Given the description of an element on the screen output the (x, y) to click on. 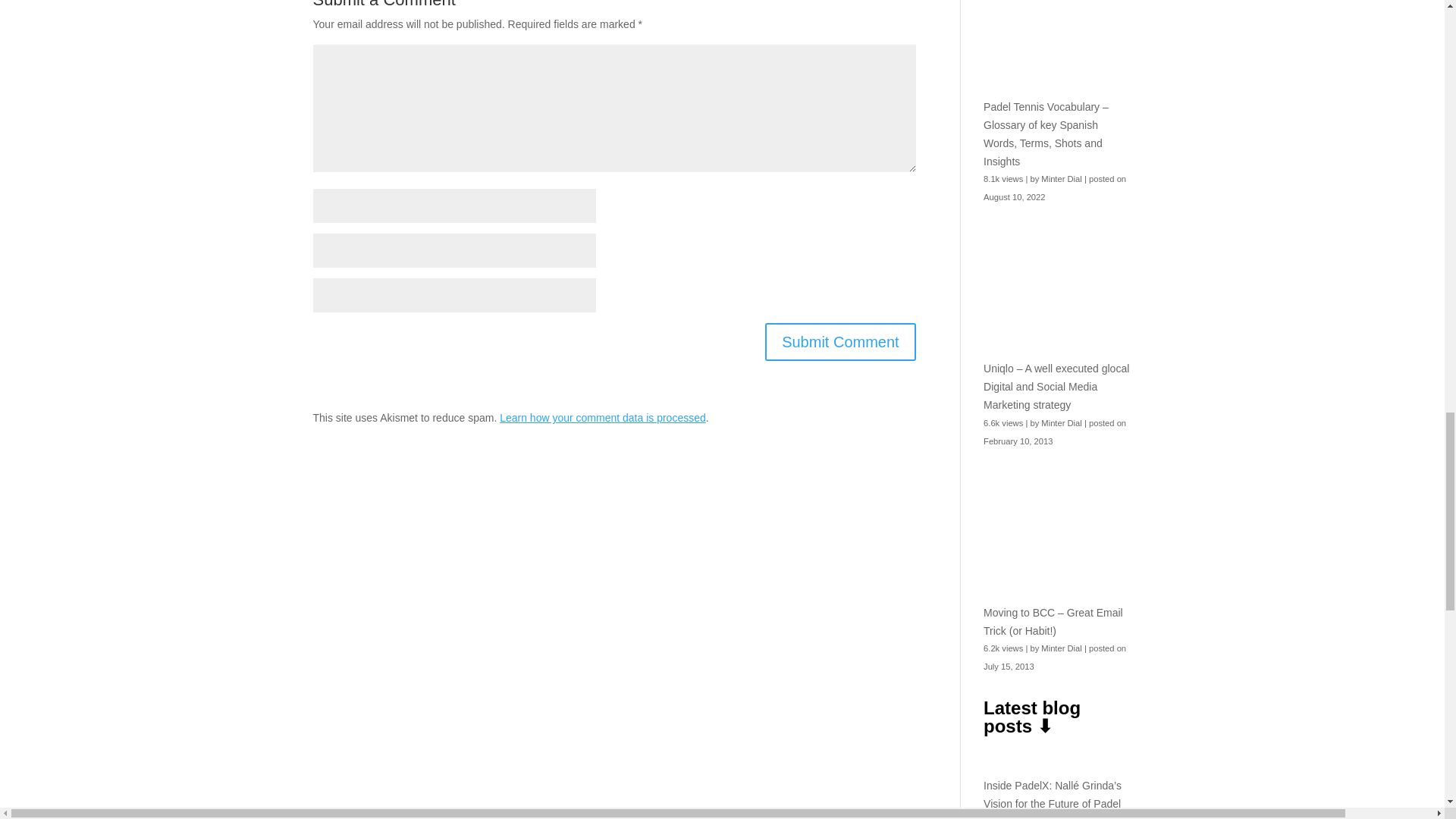
Submit Comment (840, 341)
